Given the description of an element on the screen output the (x, y) to click on. 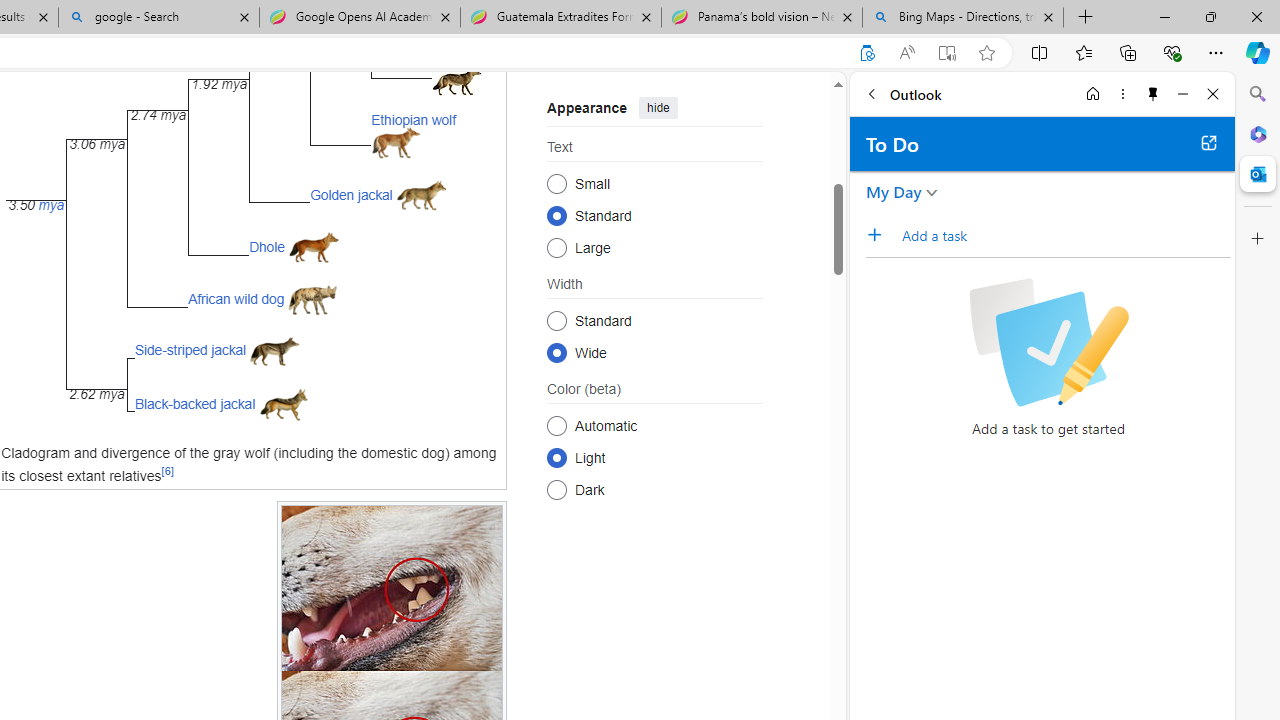
Wide (556, 352)
Add a task (1065, 235)
Automatic (556, 425)
Dark (556, 488)
Large (556, 246)
Golden jackal (350, 195)
